Given the description of an element on the screen output the (x, y) to click on. 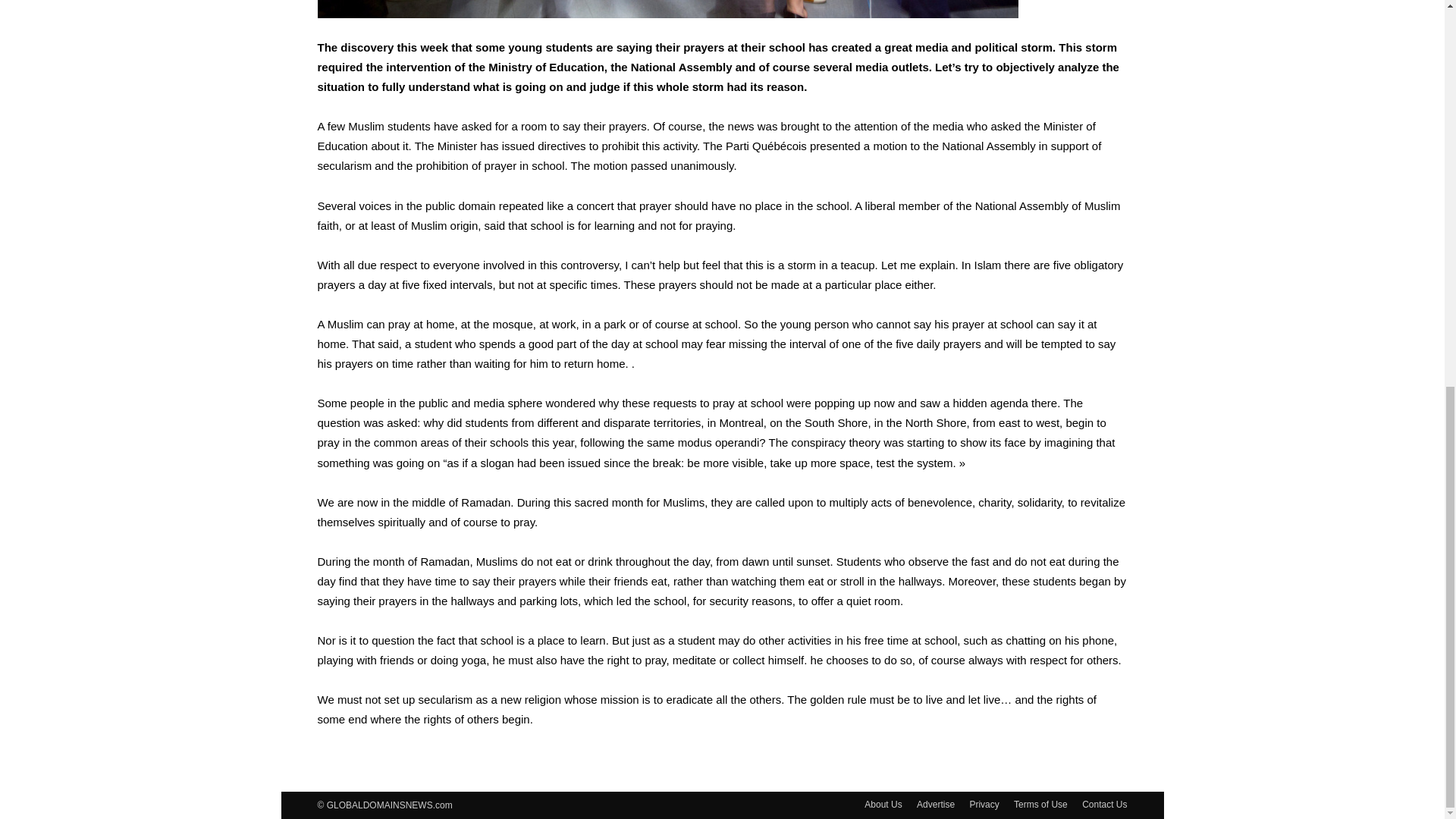
resim-496 (667, 9)
Privacy (983, 804)
Advertise (936, 804)
Terms of Use (1040, 804)
Contact Us (1103, 804)
About Us (882, 804)
